Given the description of an element on the screen output the (x, y) to click on. 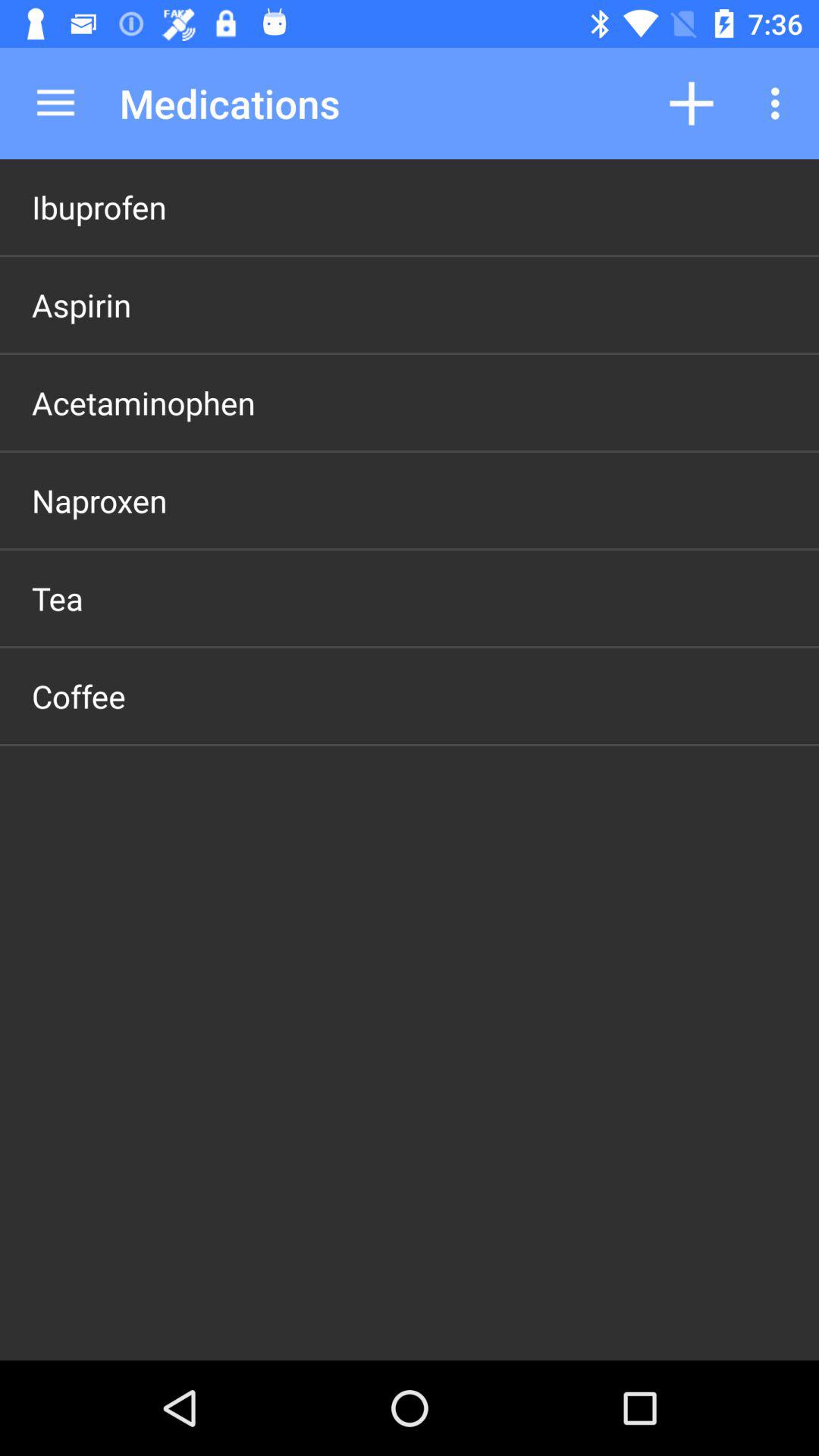
choose app to the left of medications item (55, 103)
